Given the description of an element on the screen output the (x, y) to click on. 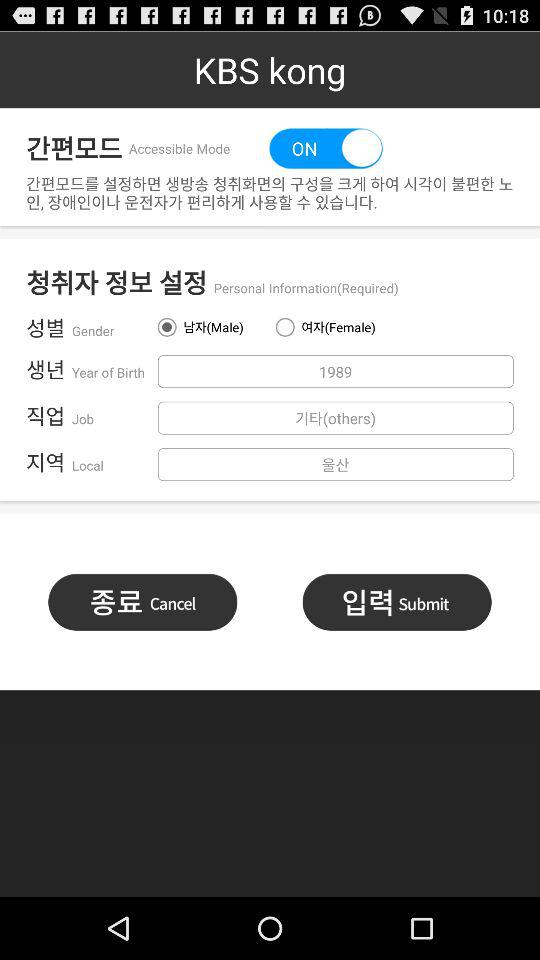
click the button above 1989 button (328, 327)
